Given the description of an element on the screen output the (x, y) to click on. 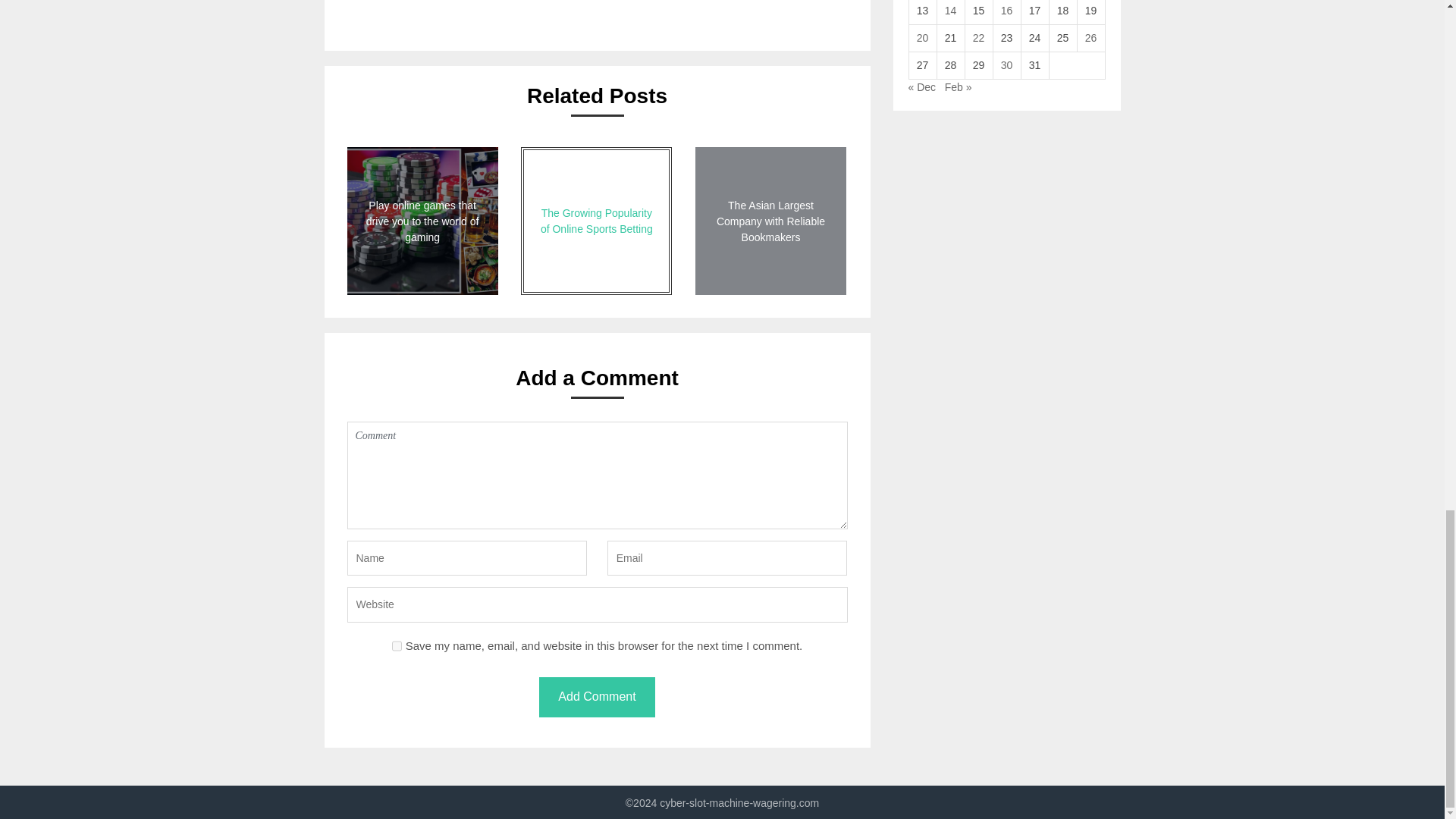
Add Comment (595, 697)
The Growing Popularity of Online Sports Betting (596, 220)
16 (1007, 10)
22 (978, 37)
Add Comment (595, 697)
30 (1007, 64)
14 (950, 10)
26 (1090, 37)
20 (922, 37)
The Growing Popularity of Online Sports Betting (596, 220)
